Given the description of an element on the screen output the (x, y) to click on. 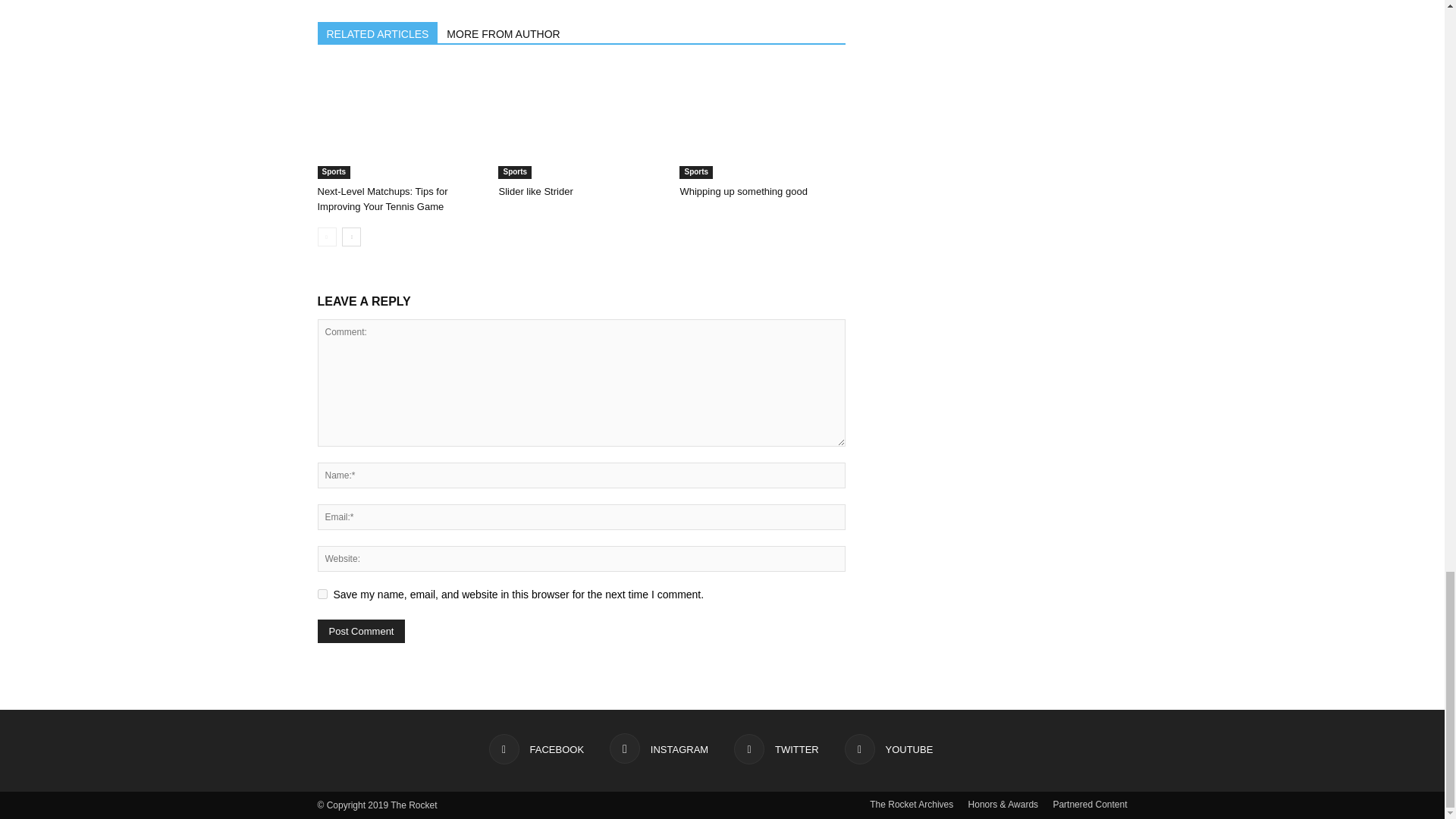
yes (321, 593)
Next-Level Matchups: Tips for Improving Your Tennis Game (399, 122)
Slider like Strider (580, 122)
Next-Level Matchups: Tips for Improving Your Tennis Game (381, 198)
Post Comment (360, 630)
